Given the description of an element on the screen output the (x, y) to click on. 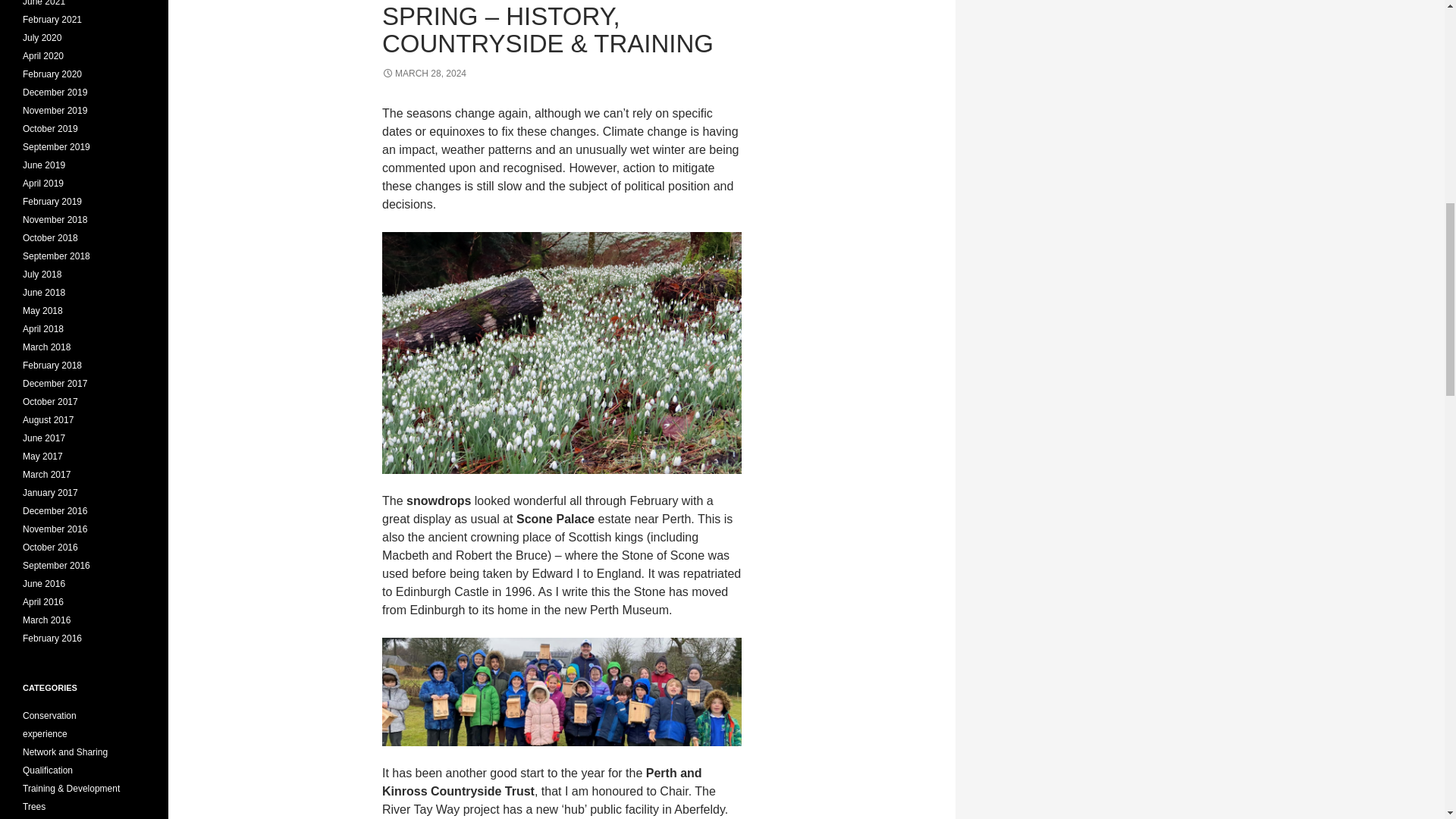
MARCH 28, 2024 (423, 72)
